Given the description of an element on the screen output the (x, y) to click on. 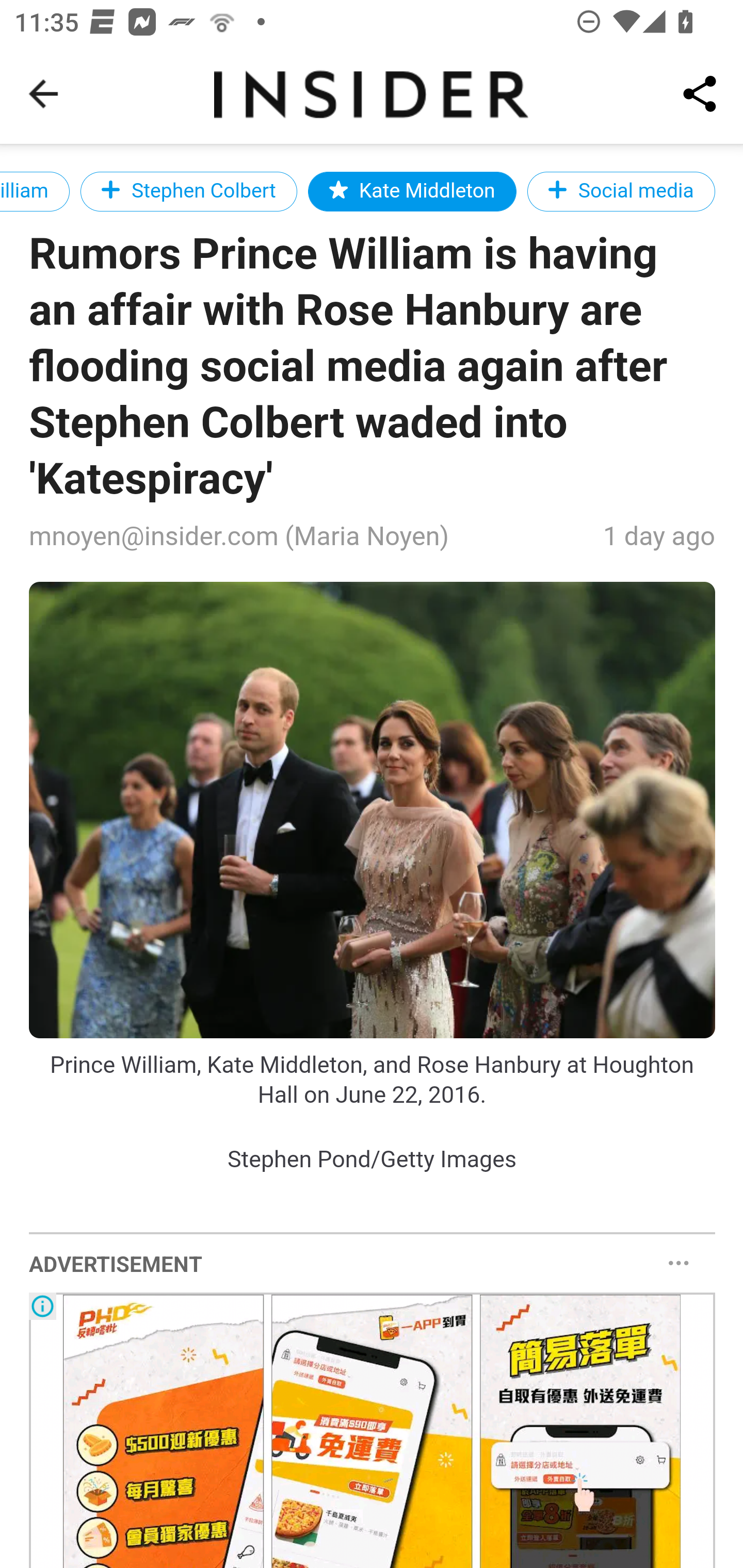
Stephen Colbert (188, 191)
Kate Middleton (411, 191)
Social media (620, 191)
?url=https%3A%2F%2Fi.insider (372, 810)
